Given the description of an element on the screen output the (x, y) to click on. 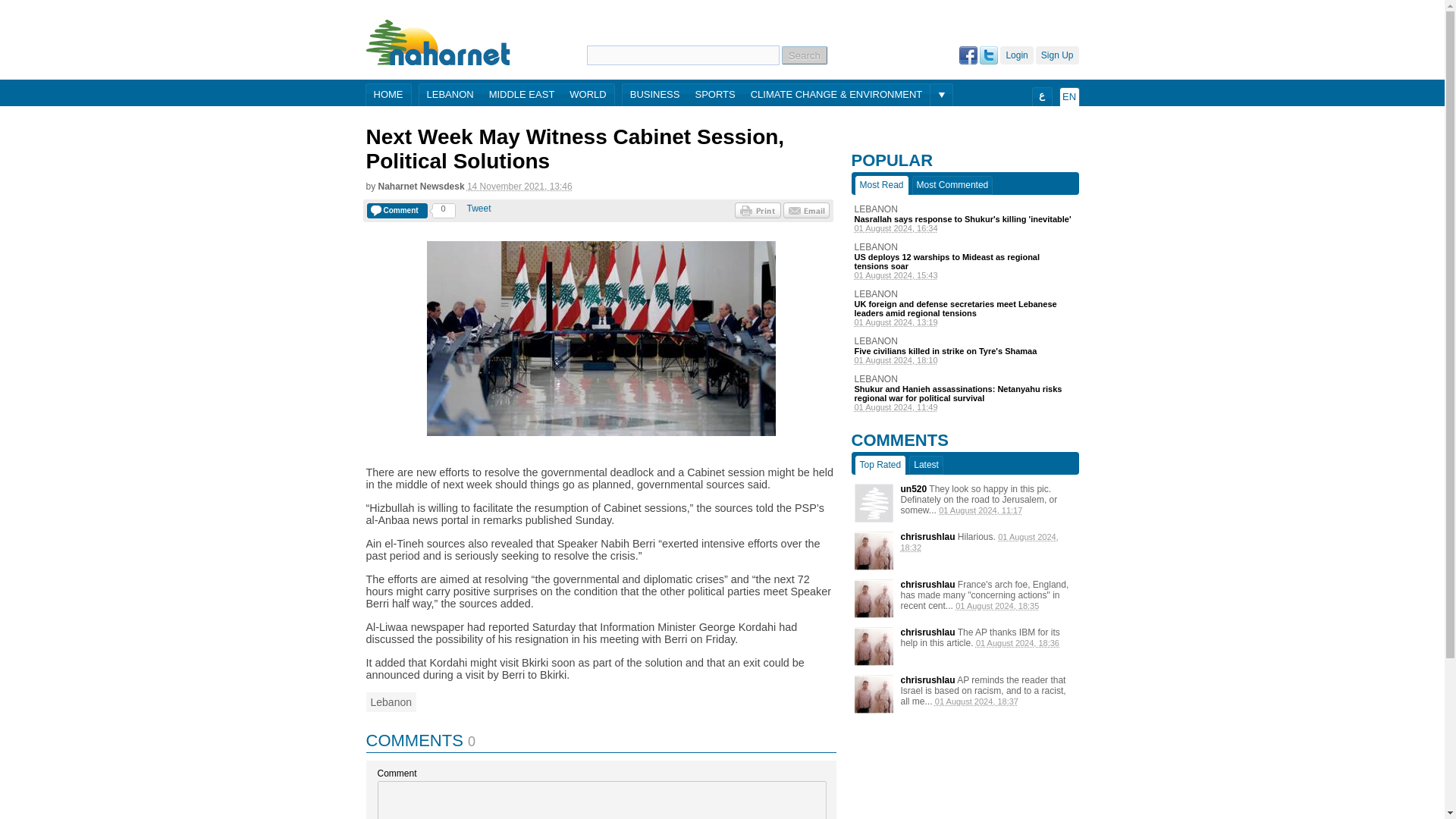
LEBANON (964, 246)
2024-08-01T13:34:21Z (964, 227)
HOME (387, 95)
Five civilians killed in strike on Tyre's Shamaa (964, 350)
Sign Up (1056, 54)
LEBANON (964, 378)
SPORTS (714, 95)
LEBANON (964, 340)
2024-08-01T15:32:04Z (979, 542)
2024-08-01T15:35:19Z (997, 605)
